Given the description of an element on the screen output the (x, y) to click on. 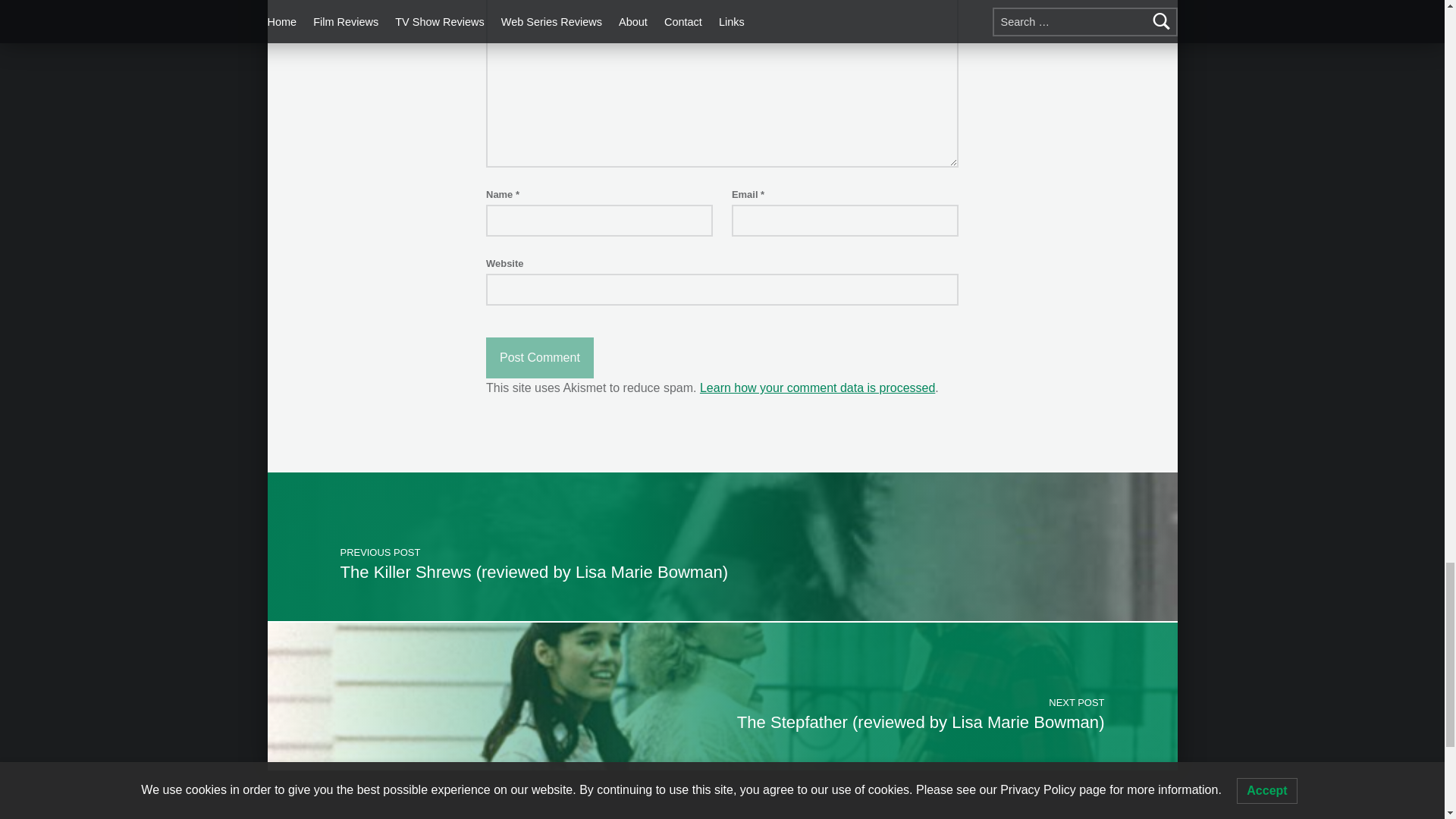
Post Comment (540, 357)
Learn how your comment data is processed (817, 387)
Post Comment (540, 357)
